Given the description of an element on the screen output the (x, y) to click on. 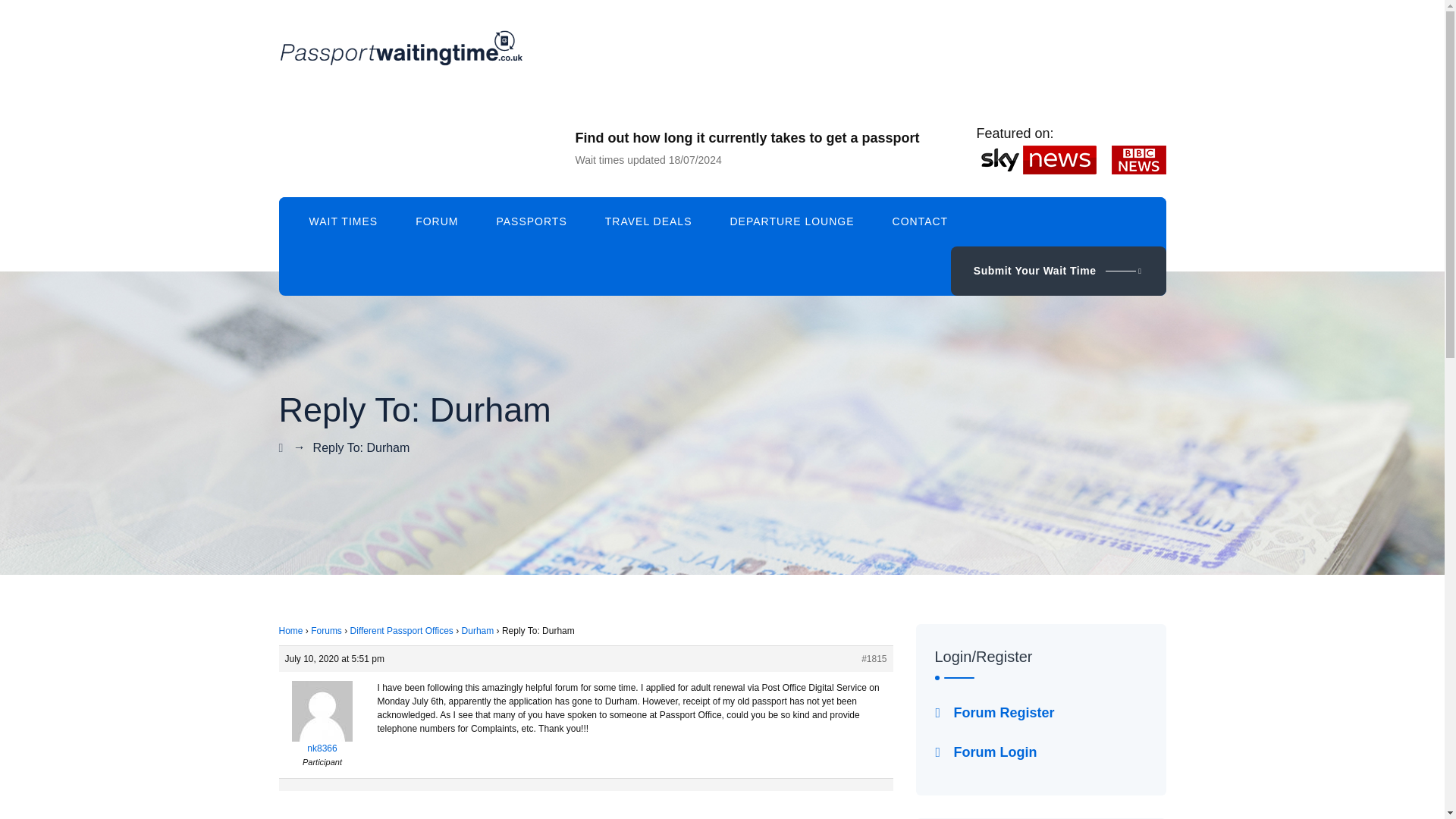
Passport Waiting Time (400, 49)
DEPARTURE LOUNGE (791, 221)
nk8366 (322, 728)
Home (290, 630)
CONTACT (920, 221)
PASSPORTS (531, 221)
View nk8366's profile (322, 728)
Different Passport Offices (401, 630)
WAIT TIMES (342, 221)
Submit Your Wait Time (1058, 270)
TRAVEL DEALS (648, 221)
Forums (326, 630)
Durham (478, 630)
FORUM (436, 221)
